Given the description of an element on the screen output the (x, y) to click on. 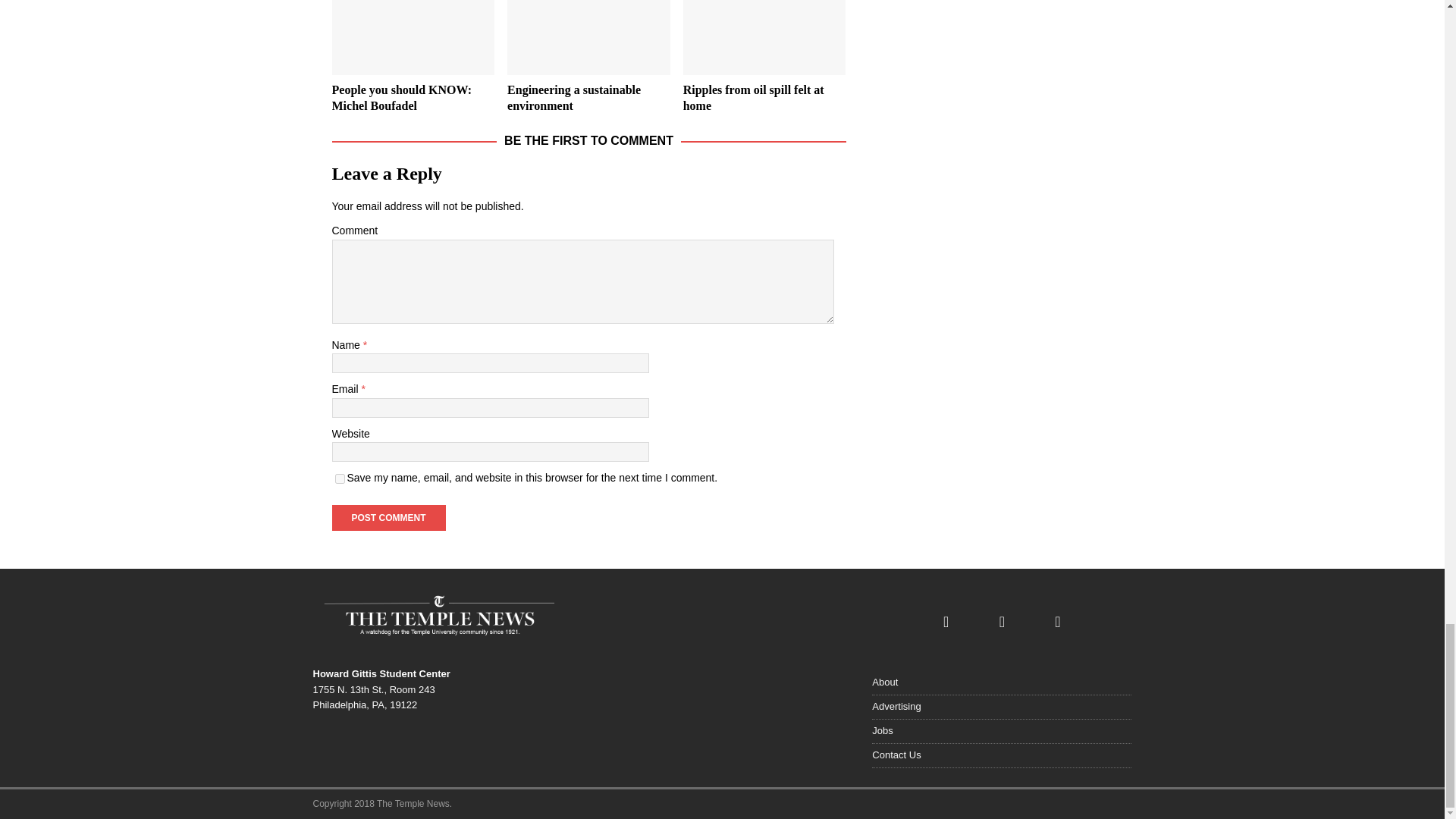
yes (339, 479)
Post Comment (388, 517)
